Given the description of an element on the screen output the (x, y) to click on. 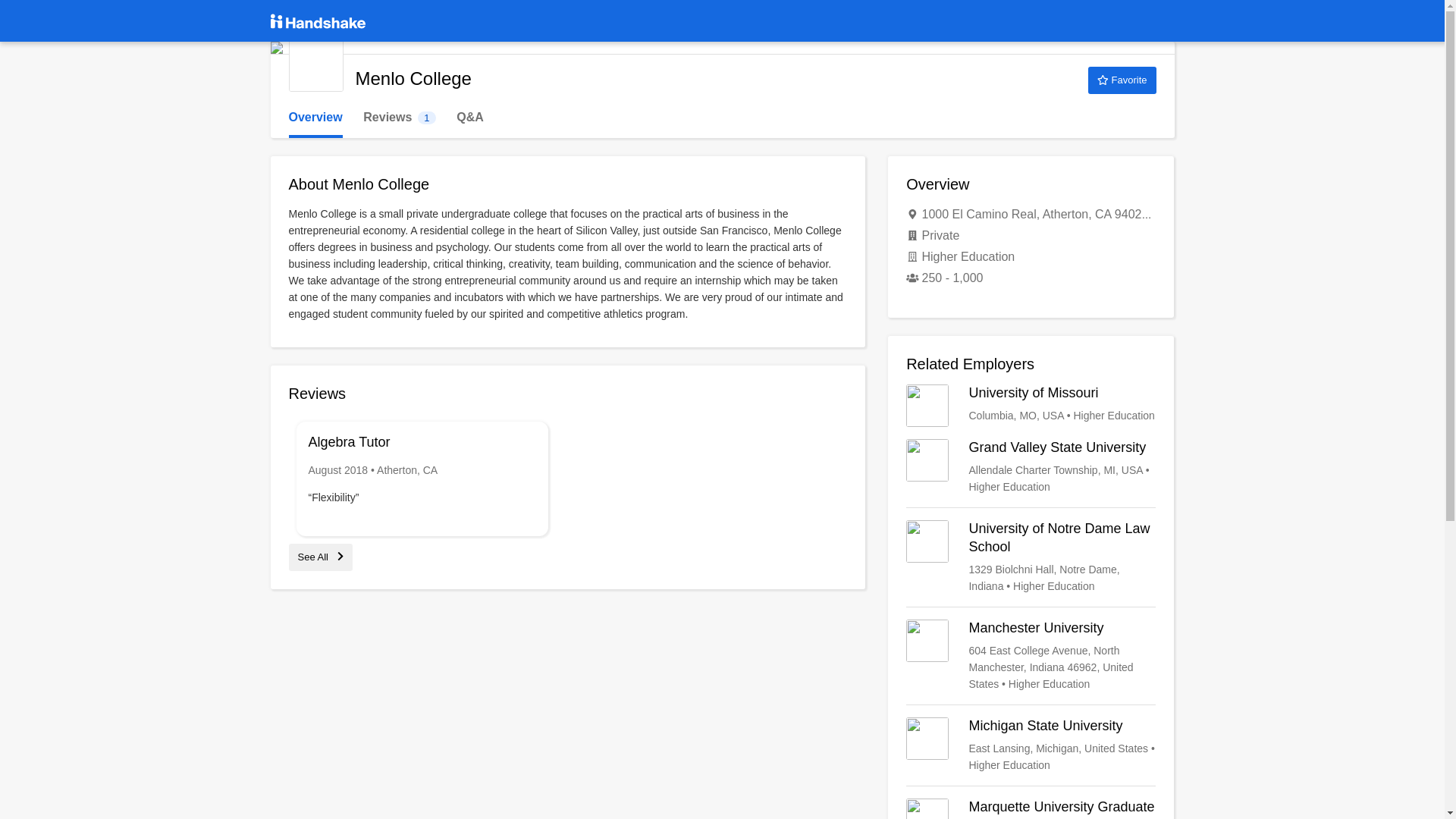
Manchester University (398, 117)
University of Missouri (1030, 655)
University of Notre Dame Law School (1030, 405)
Marquette University Graduate School (1030, 557)
Overview (1030, 808)
Michigan State University (315, 117)
Menlo College (1030, 745)
See All (315, 63)
Grand Valley State University (320, 556)
